Given the description of an element on the screen output the (x, y) to click on. 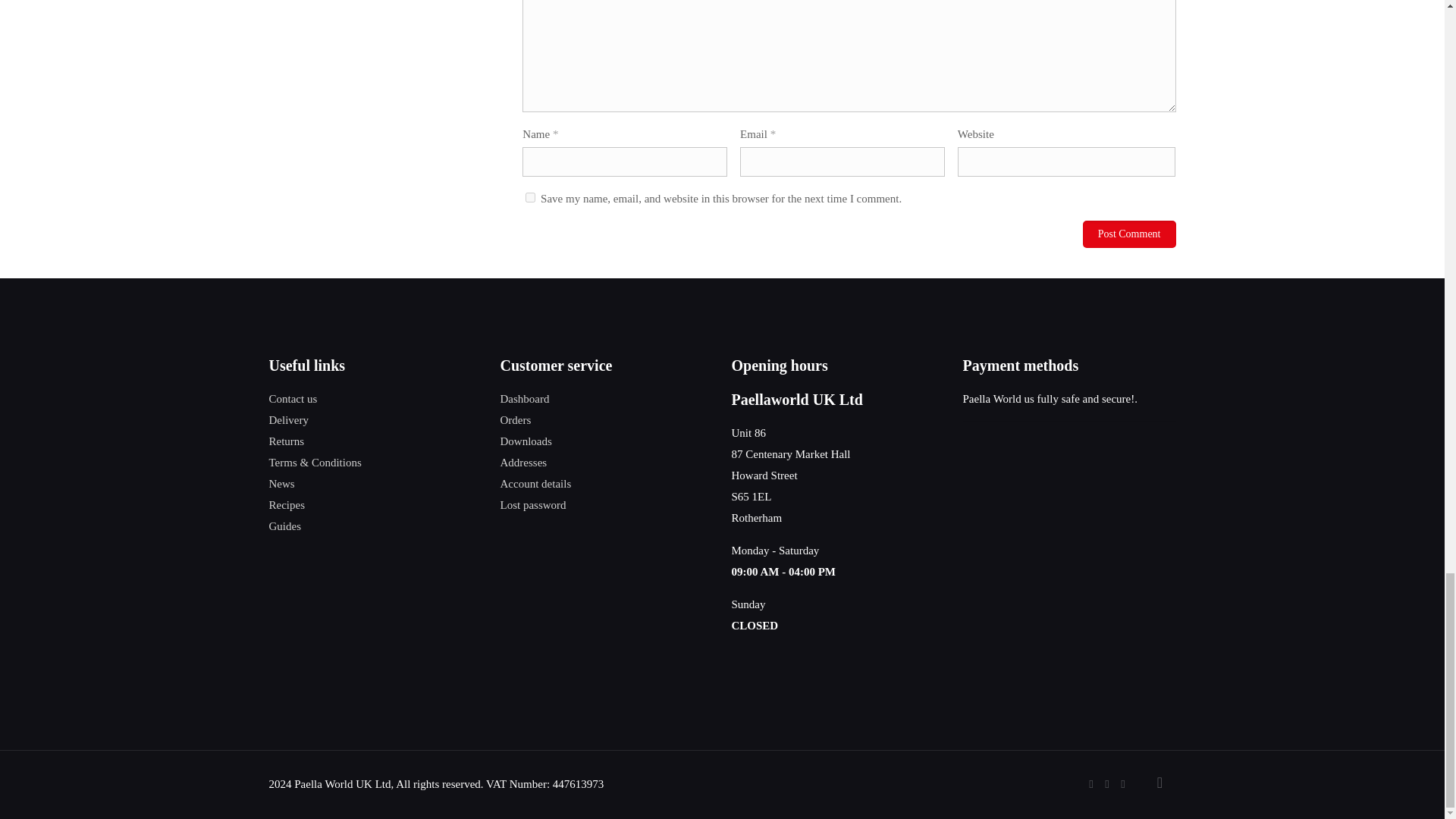
Facebook (1091, 784)
Instagram (1123, 784)
yes (530, 197)
Post Comment (1129, 234)
